Given the description of an element on the screen output the (x, y) to click on. 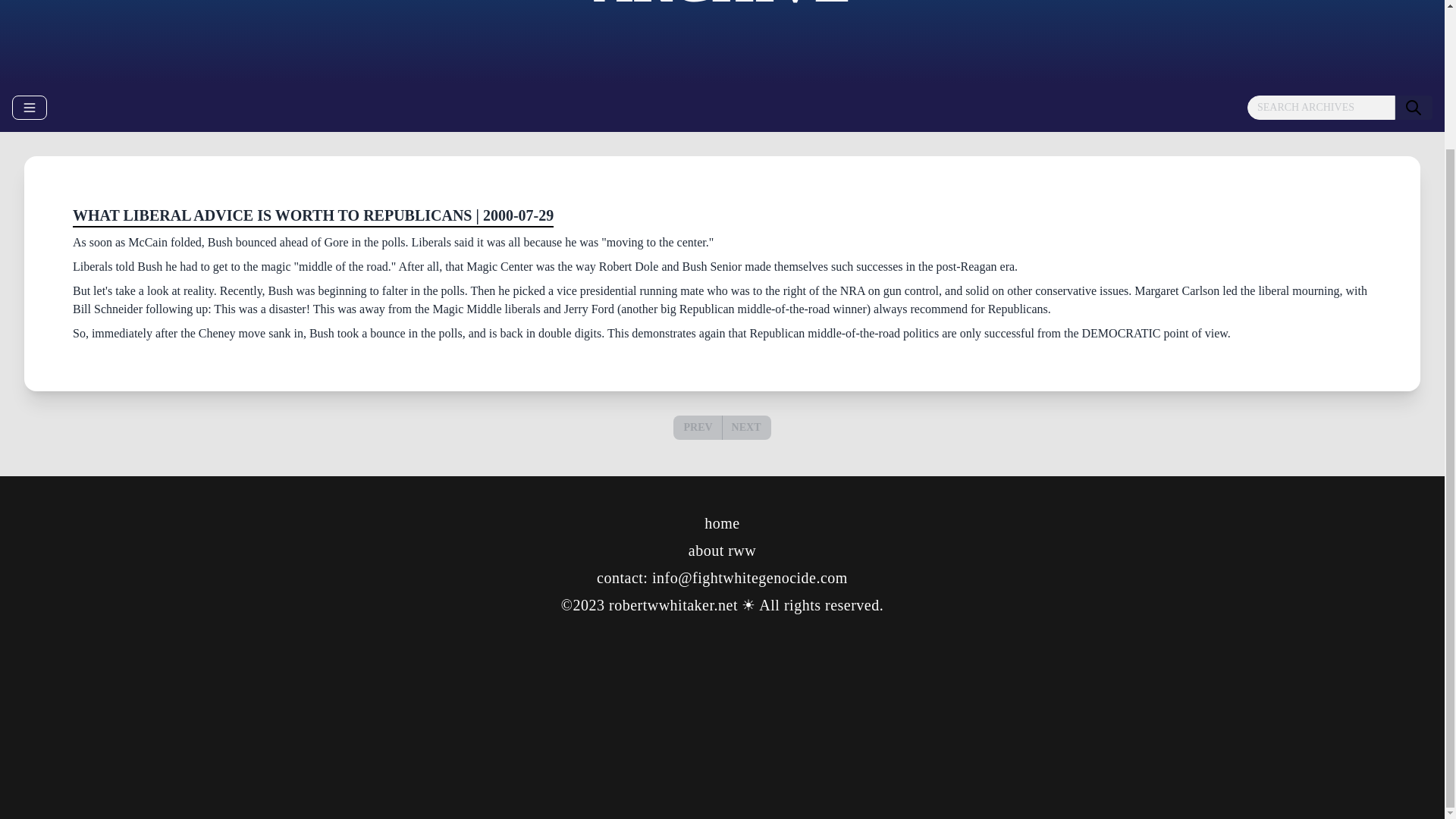
THE ROBERT W. WHITAKER ARCHIVE (721, 5)
NEXT (746, 427)
about rww (721, 550)
PREV (696, 427)
home (721, 523)
NEXT (746, 427)
PREV (697, 427)
